Given the description of an element on the screen output the (x, y) to click on. 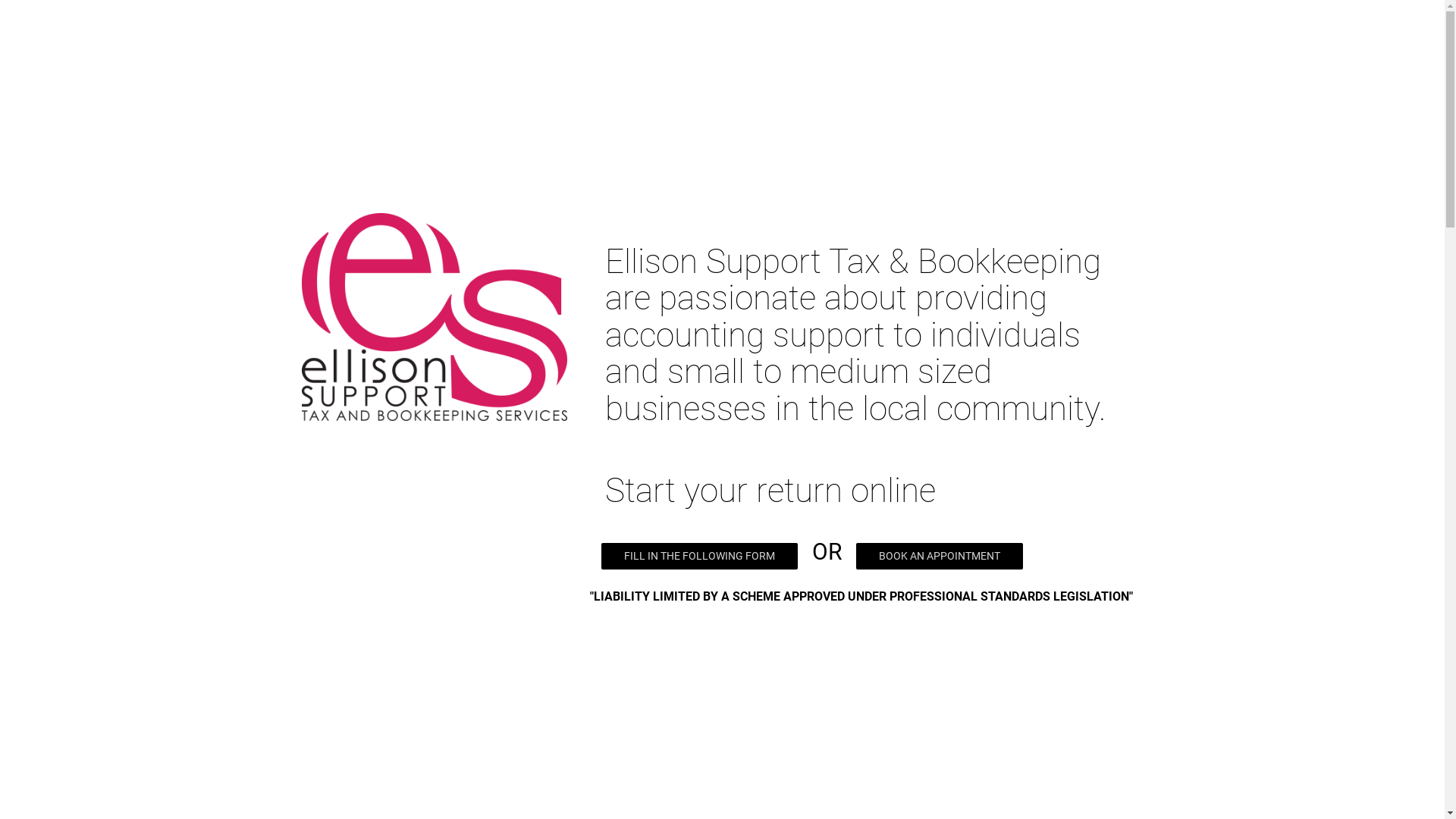
FILL IN THE FOLLOWING FORM Element type: text (698, 555)
BOOK AN APPOINTMENT Element type: text (938, 555)
